Given the description of an element on the screen output the (x, y) to click on. 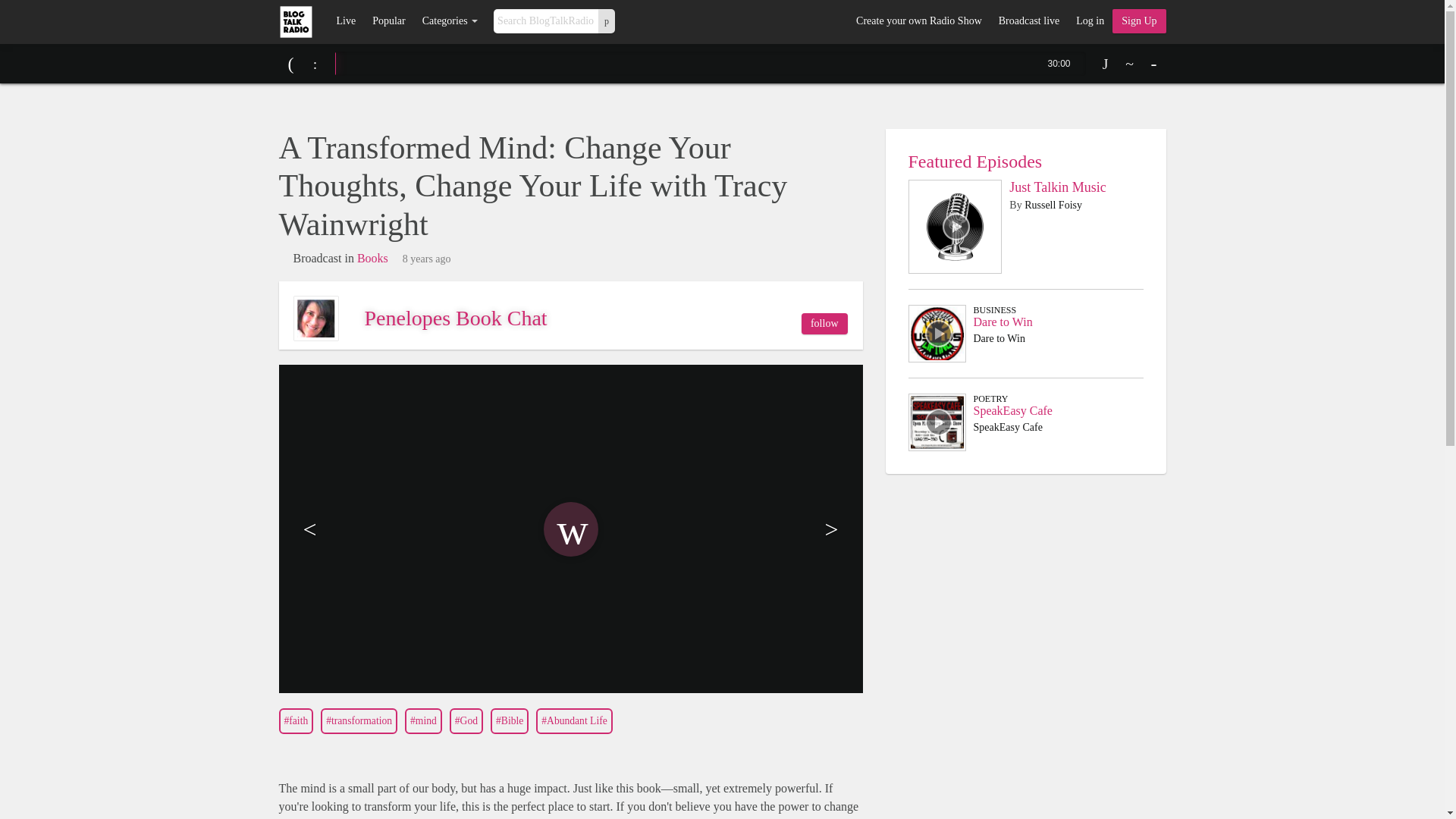
Embed this episode (1129, 63)
Broadcast live (1028, 20)
Sign Up (1139, 21)
Create My Talk Show (1139, 21)
Download this episode (1105, 63)
Sat, May 21, 2016 04:00 am (427, 259)
Categories (449, 20)
Popular (388, 20)
Follow Penelopes Book Chat (824, 323)
Live (345, 20)
